Given the description of an element on the screen output the (x, y) to click on. 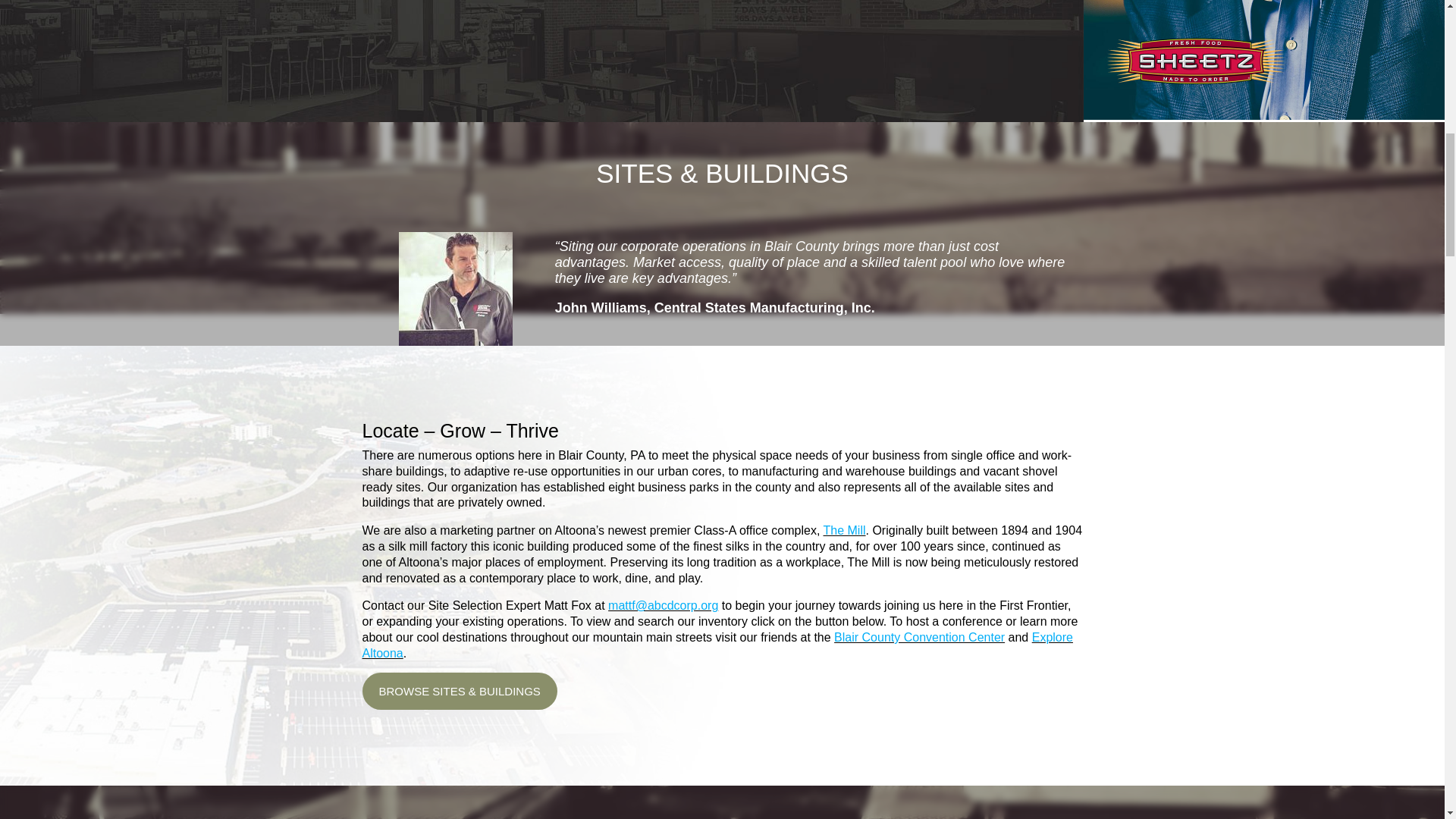
Blair County Convention Center (919, 636)
The Mill (845, 530)
Explore Altoona (717, 645)
